Given the description of an element on the screen output the (x, y) to click on. 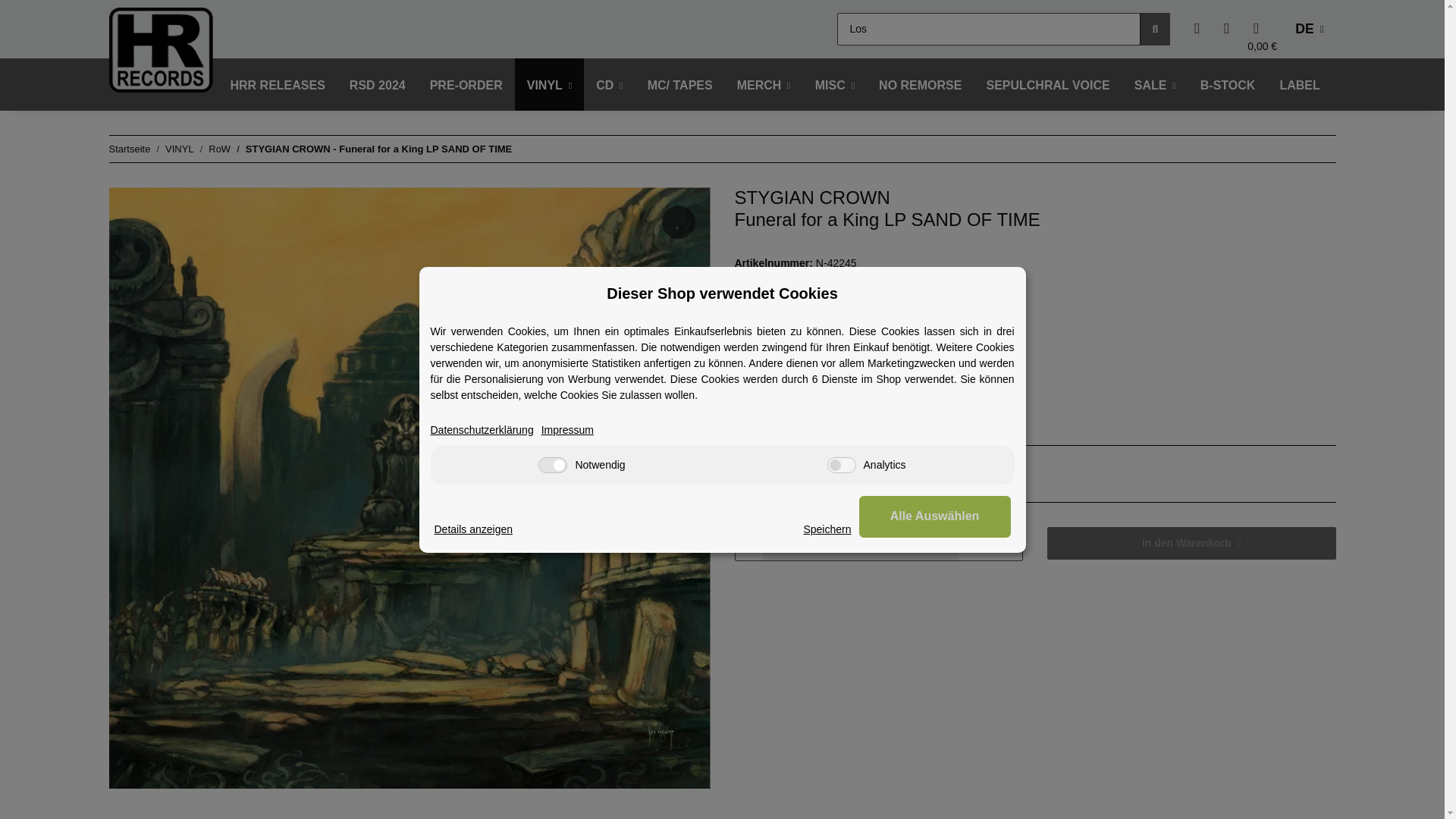
NO REMORSE (920, 85)
RSD 2024 (377, 85)
MERCH (764, 85)
HRR RELEASES (277, 85)
PRE-ORDER (466, 85)
RSD 2024 (377, 85)
PRE-ORDER (466, 85)
High Roller Records - OnlineShop (160, 49)
HRR RELEASES (277, 85)
1 (860, 543)
CD (608, 85)
HRR RELEASES (277, 85)
RSD 2024 (377, 85)
B-STOCK (1228, 85)
DE (1308, 28)
